Given the description of an element on the screen output the (x, y) to click on. 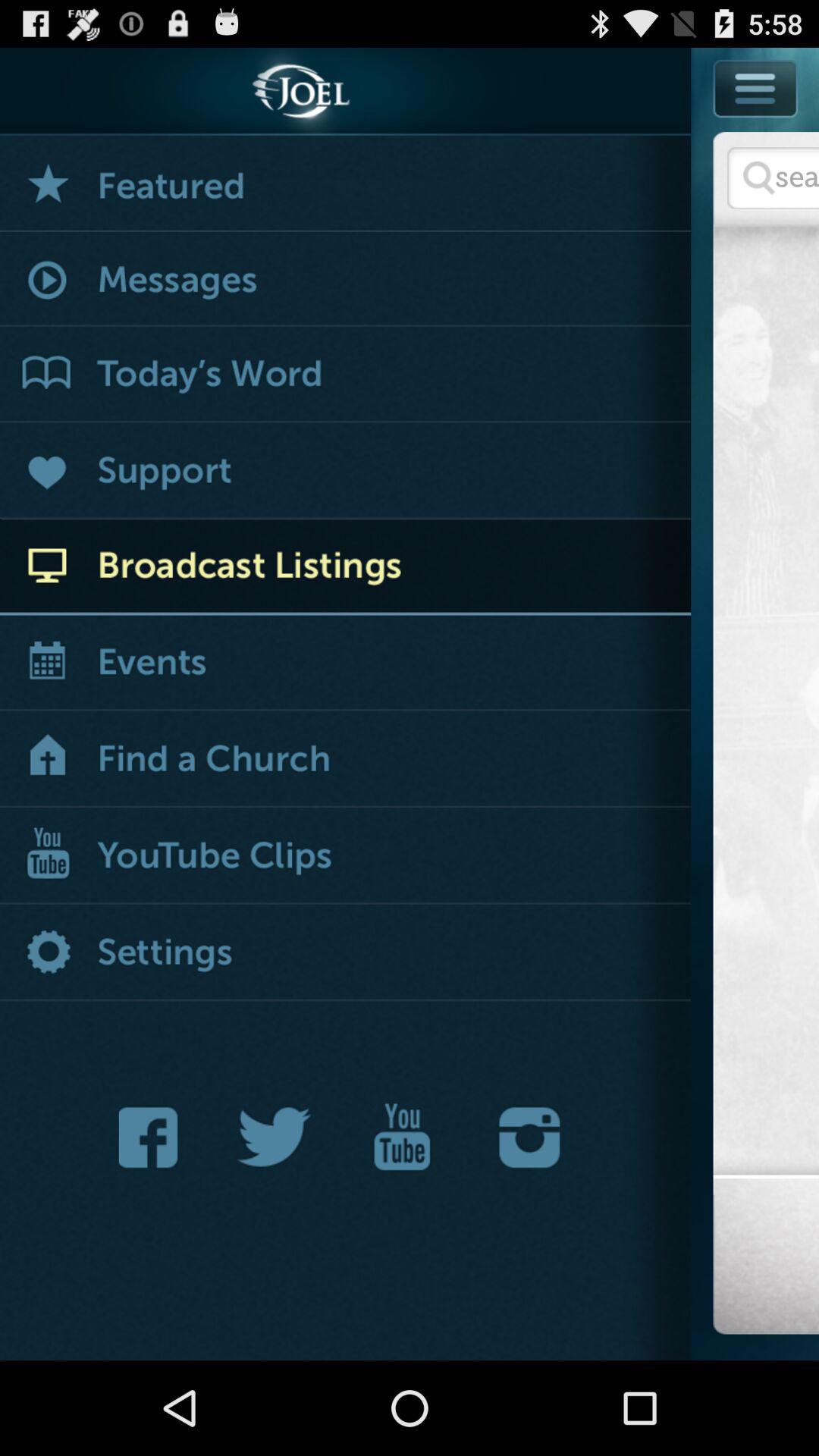
see the word of the day (345, 375)
